Given the description of an element on the screen output the (x, y) to click on. 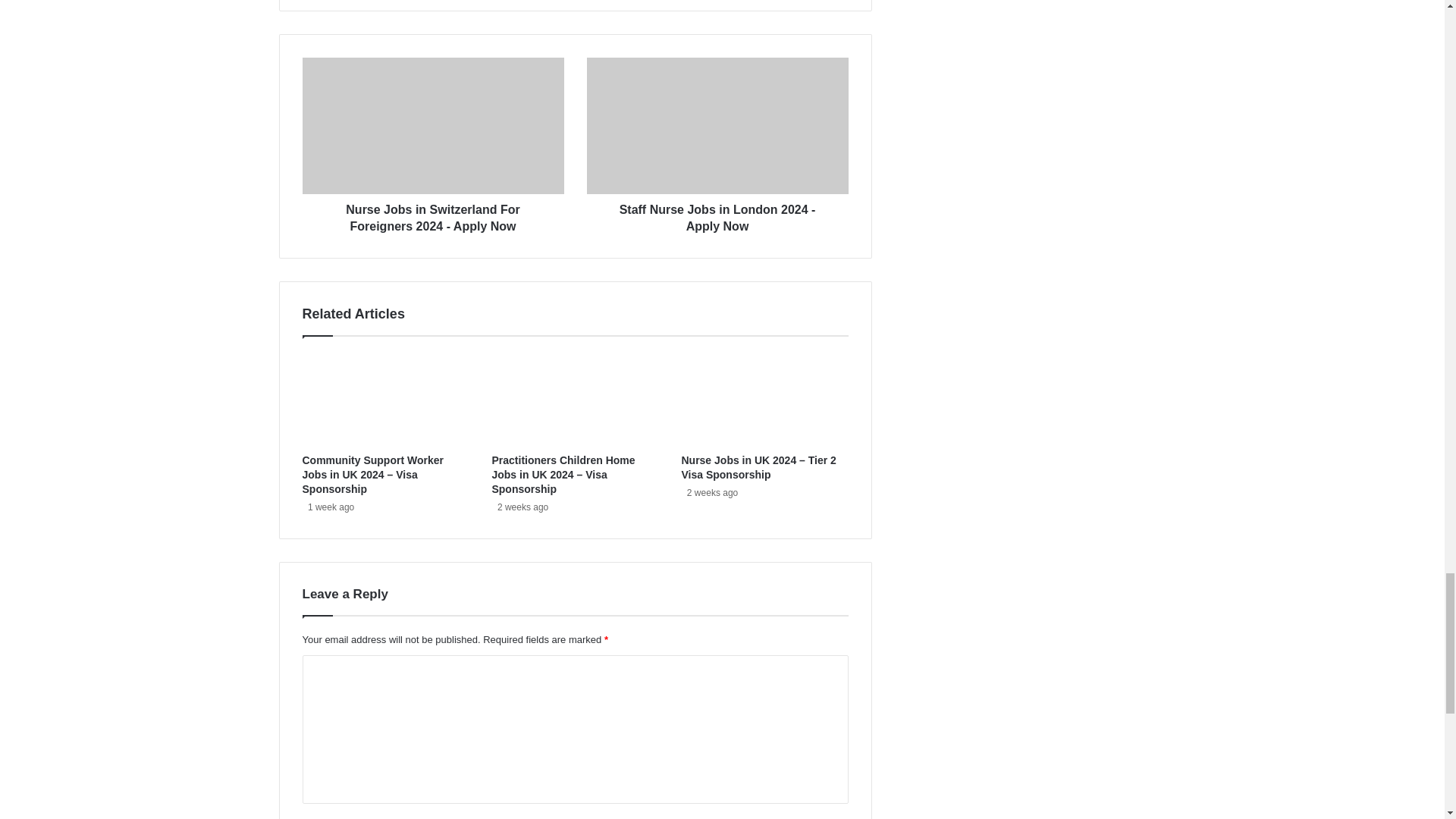
Nurse Jobs in Switzerland For Foreigners 2024 - Apply Now (432, 214)
